Given the description of an element on the screen output the (x, y) to click on. 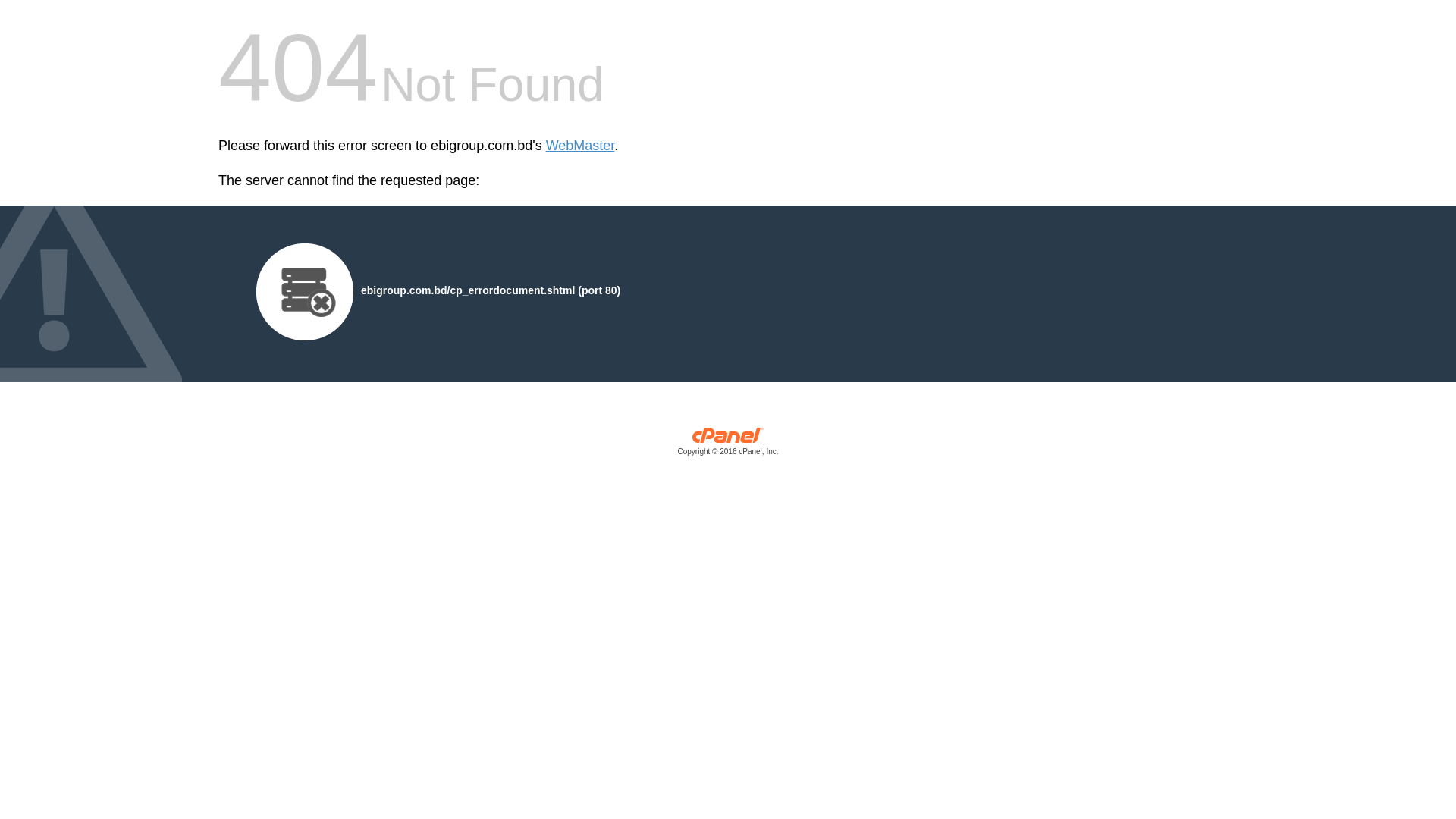
WebMaster Element type: text (580, 145)
